Given the description of an element on the screen output the (x, y) to click on. 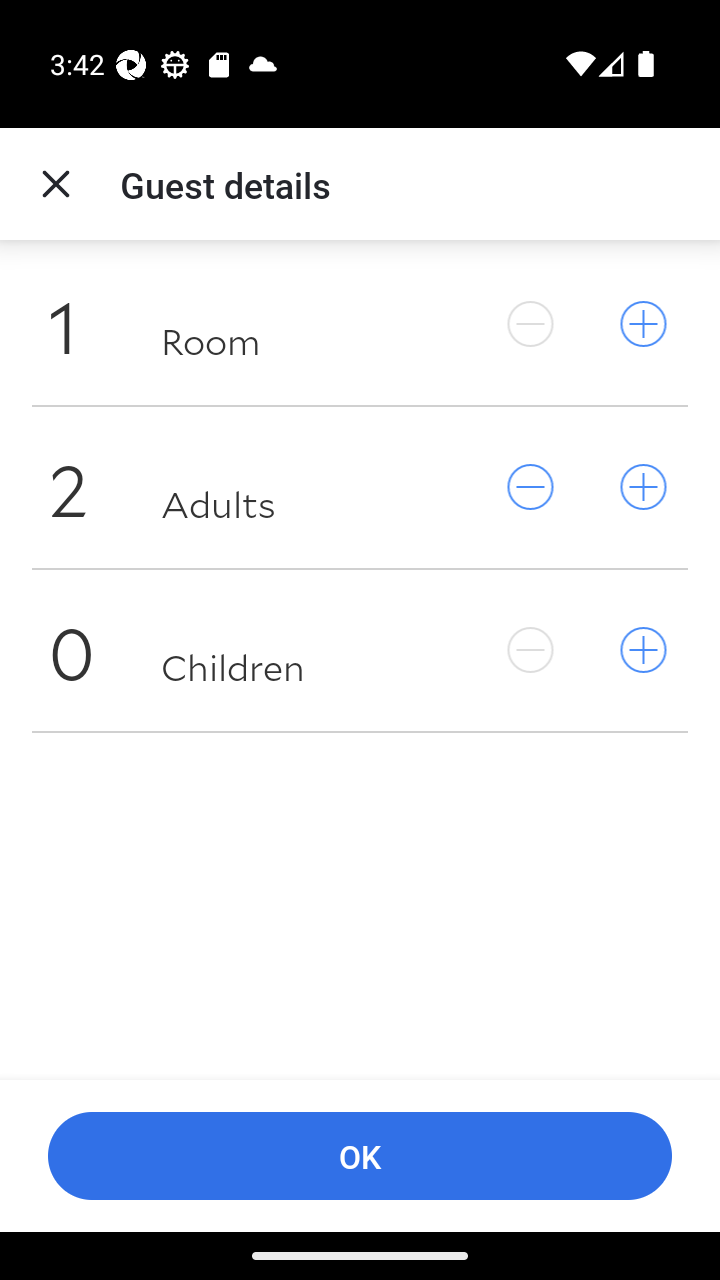
OK (359, 1156)
